Given the description of an element on the screen output the (x, y) to click on. 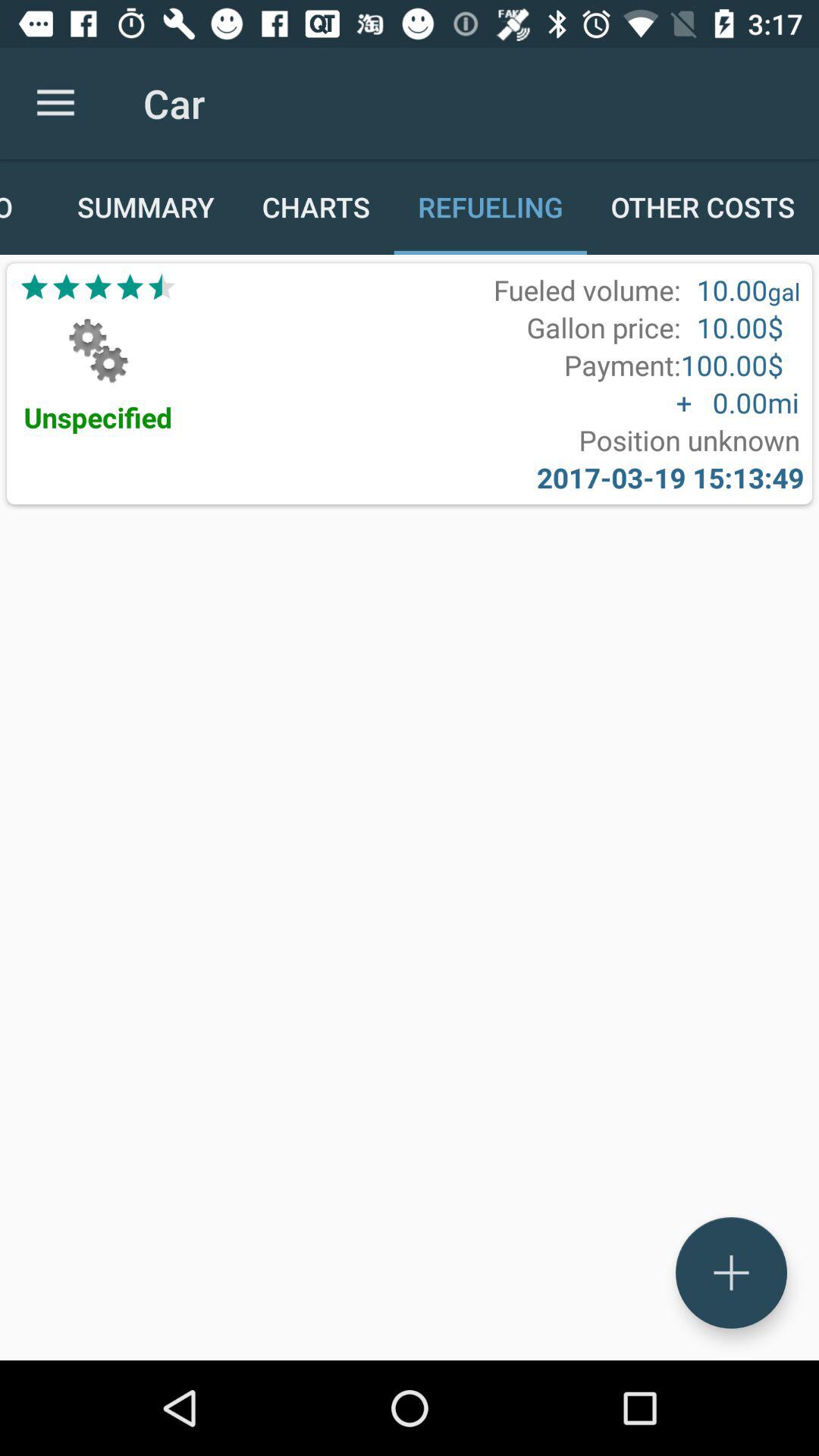
select the gal (783, 291)
